Given the description of an element on the screen output the (x, y) to click on. 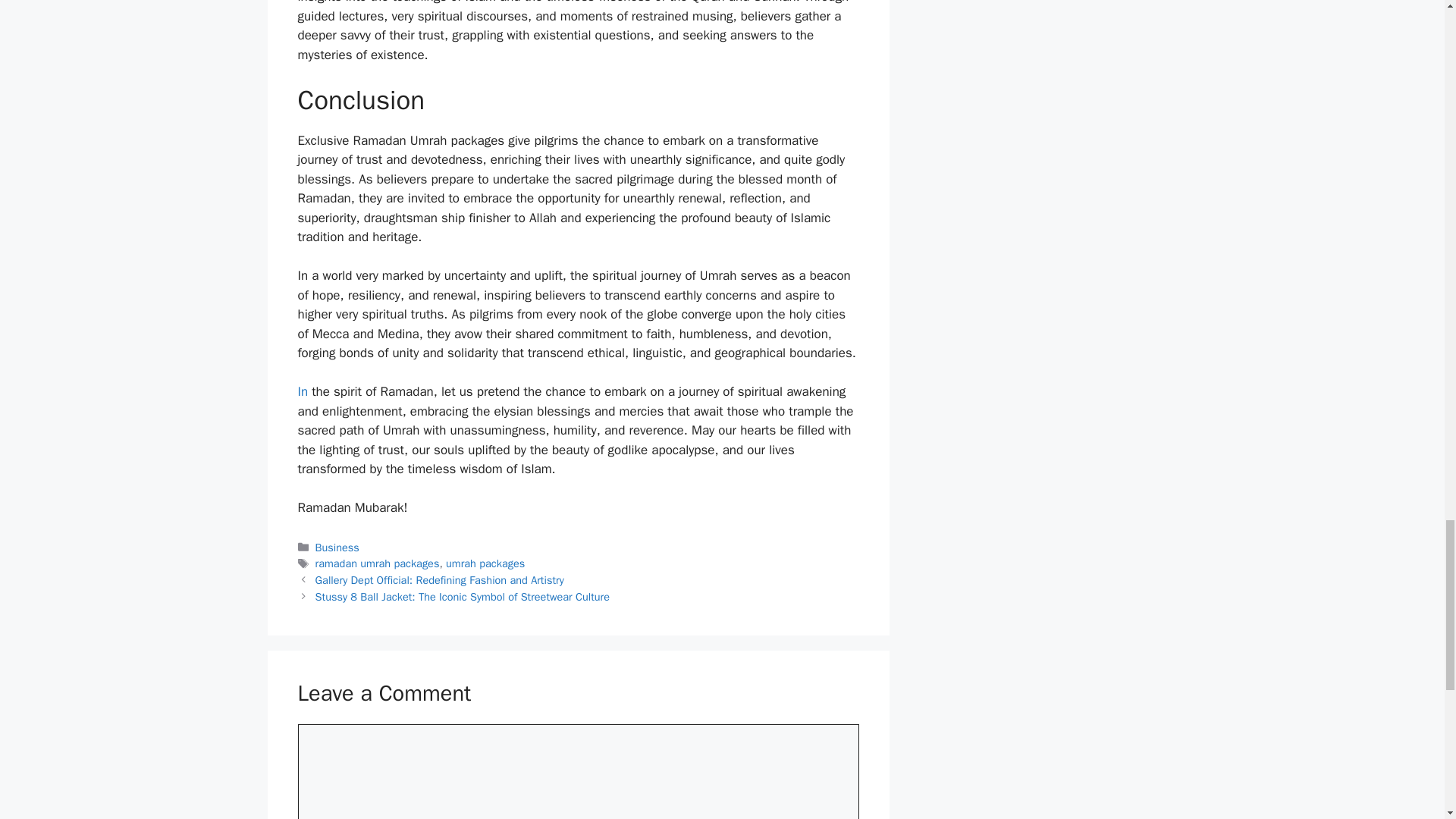
In (304, 391)
ramadan umrah packages (377, 563)
Gallery Dept Official: Redefining Fashion and Artistry (439, 580)
umrah packages (484, 563)
Business (337, 546)
